Given the description of an element on the screen output the (x, y) to click on. 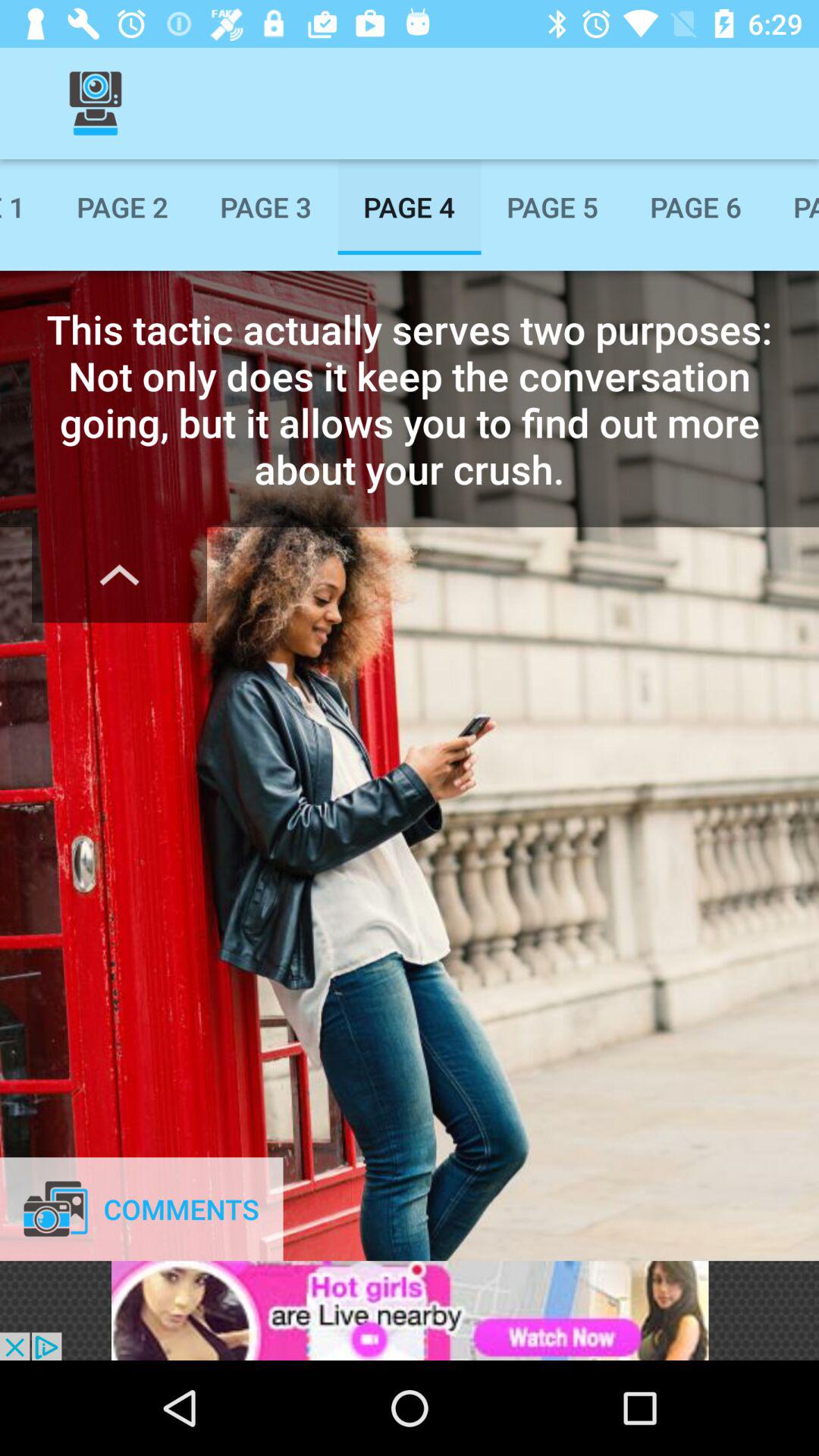
advertisement (409, 1310)
